Given the description of an element on the screen output the (x, y) to click on. 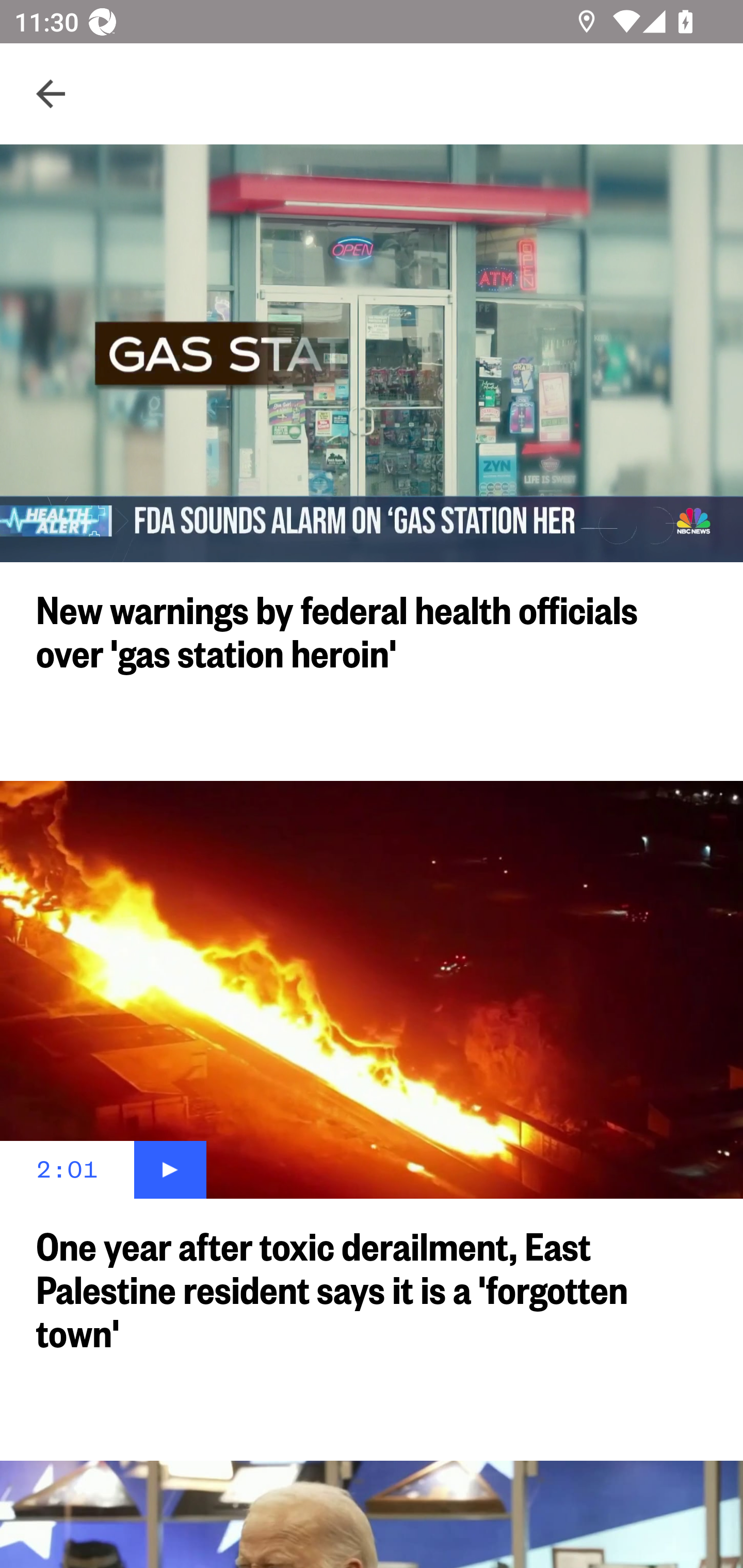
Navigate up (50, 93)
